Given the description of an element on the screen output the (x, y) to click on. 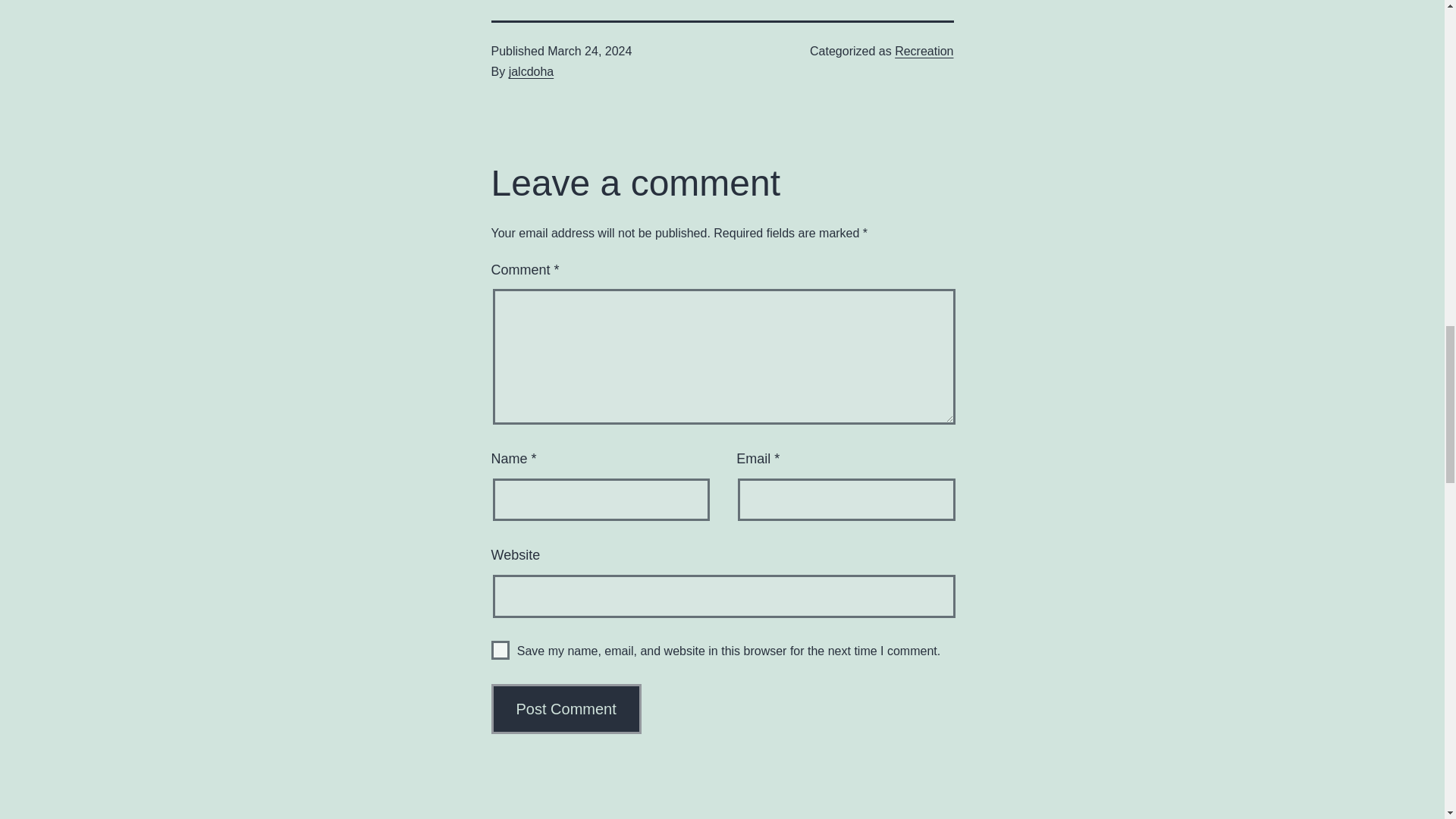
Recreation (924, 51)
Post Comment (567, 708)
Post Comment (531, 71)
yes (567, 708)
